Given the description of an element on the screen output the (x, y) to click on. 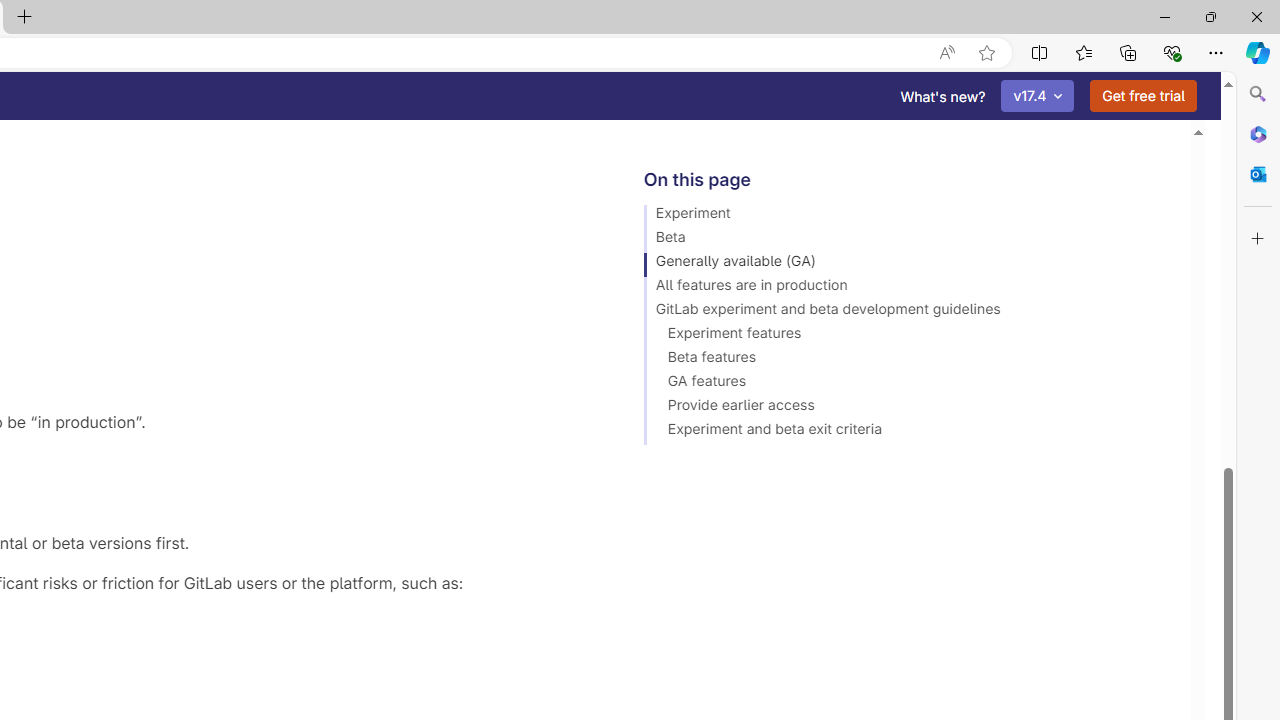
v17.4 (1037, 95)
Experiment (908, 215)
Generally available (GA) (908, 264)
Experiment (908, 215)
GitLab experiment and beta development guidelines (908, 312)
Experiment features (908, 336)
Experiment and beta exit criteria (908, 431)
GA features (908, 384)
Get free trial (1143, 95)
